Given the description of an element on the screen output the (x, y) to click on. 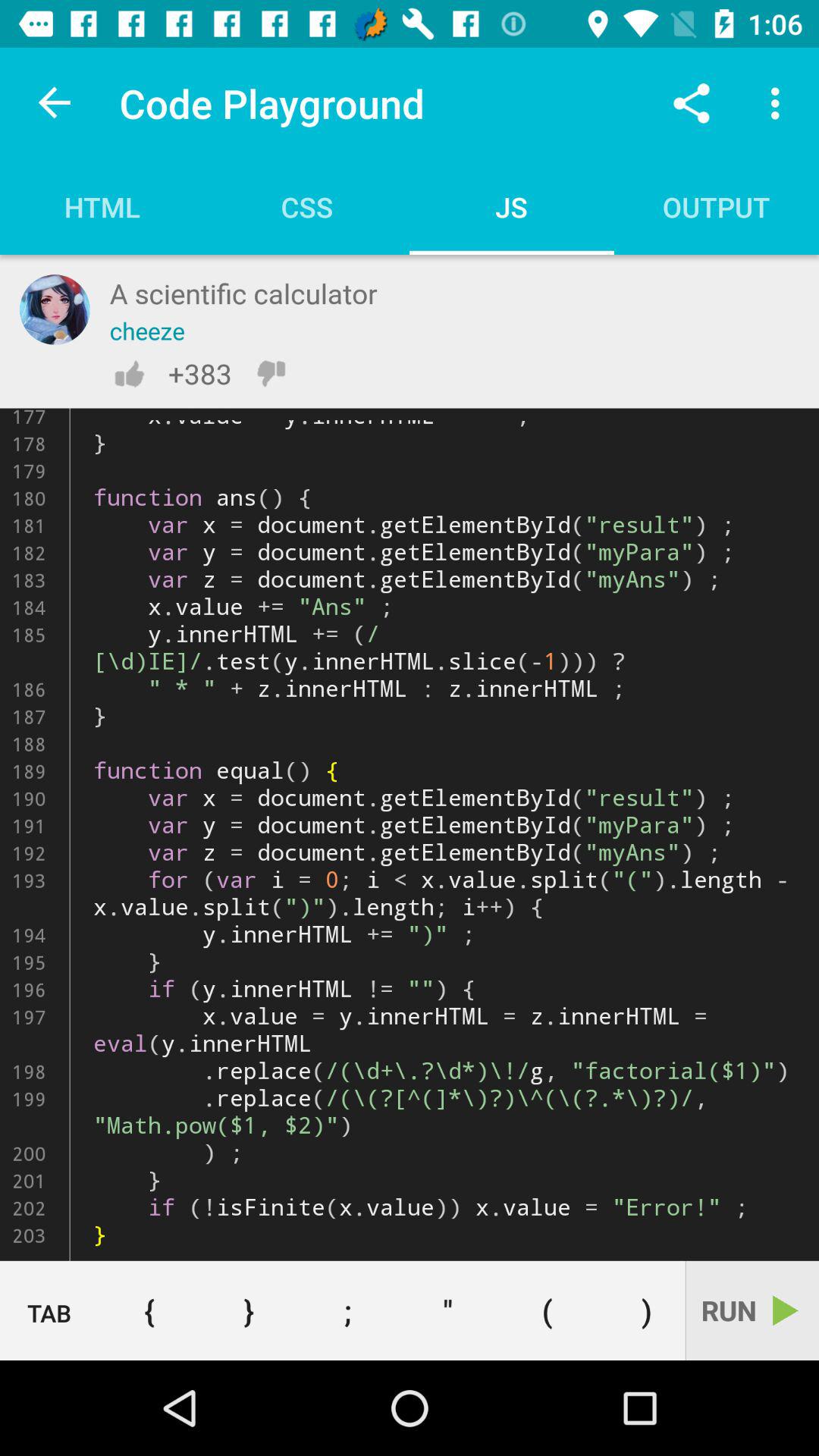
turn on icon below html item (54, 309)
